Given the description of an element on the screen output the (x, y) to click on. 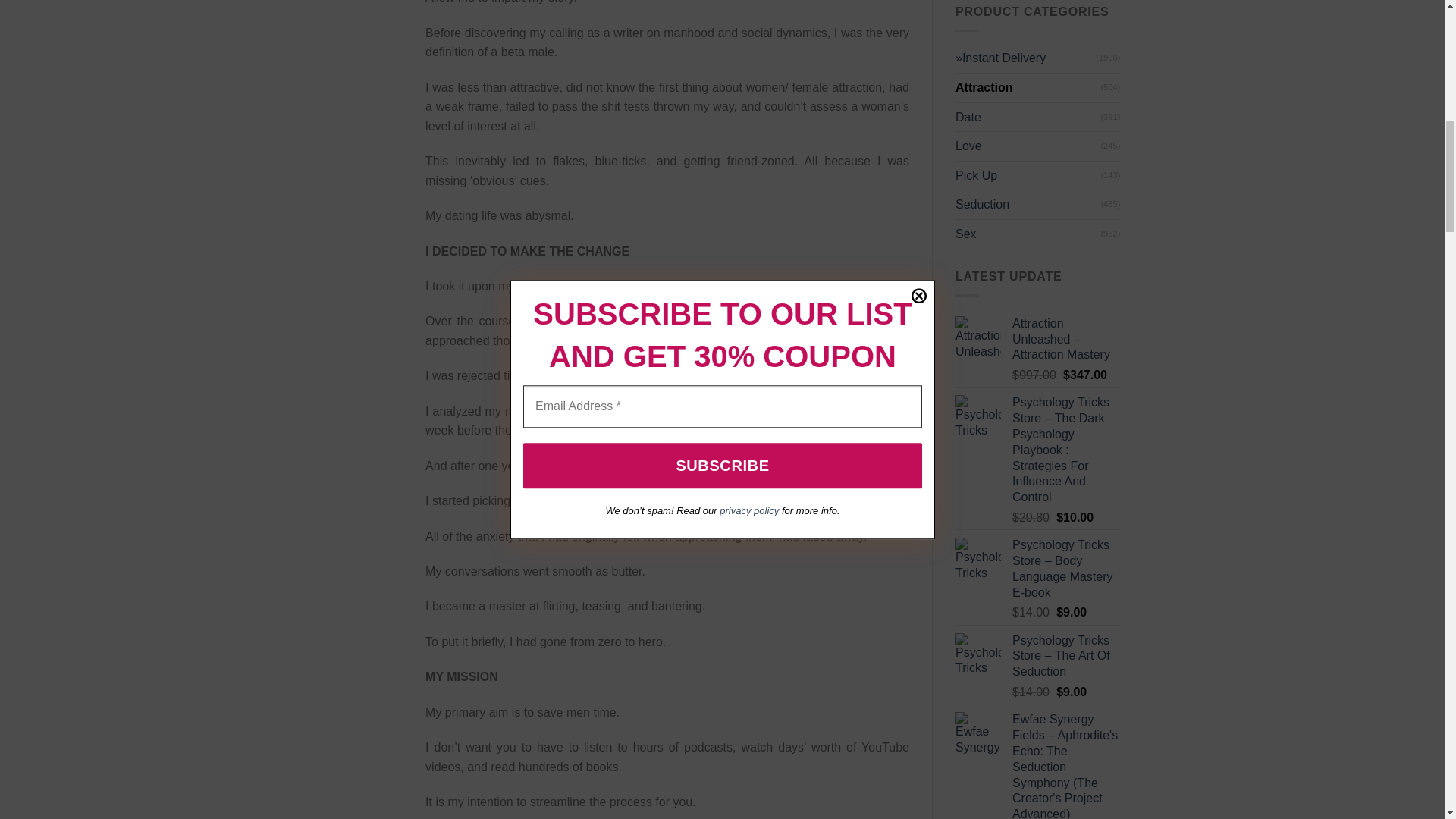
Pick Up (1027, 175)
Seduction (1027, 204)
Love (1027, 145)
Date (1027, 117)
Sex (1027, 234)
Attraction (1027, 87)
